Given the description of an element on the screen output the (x, y) to click on. 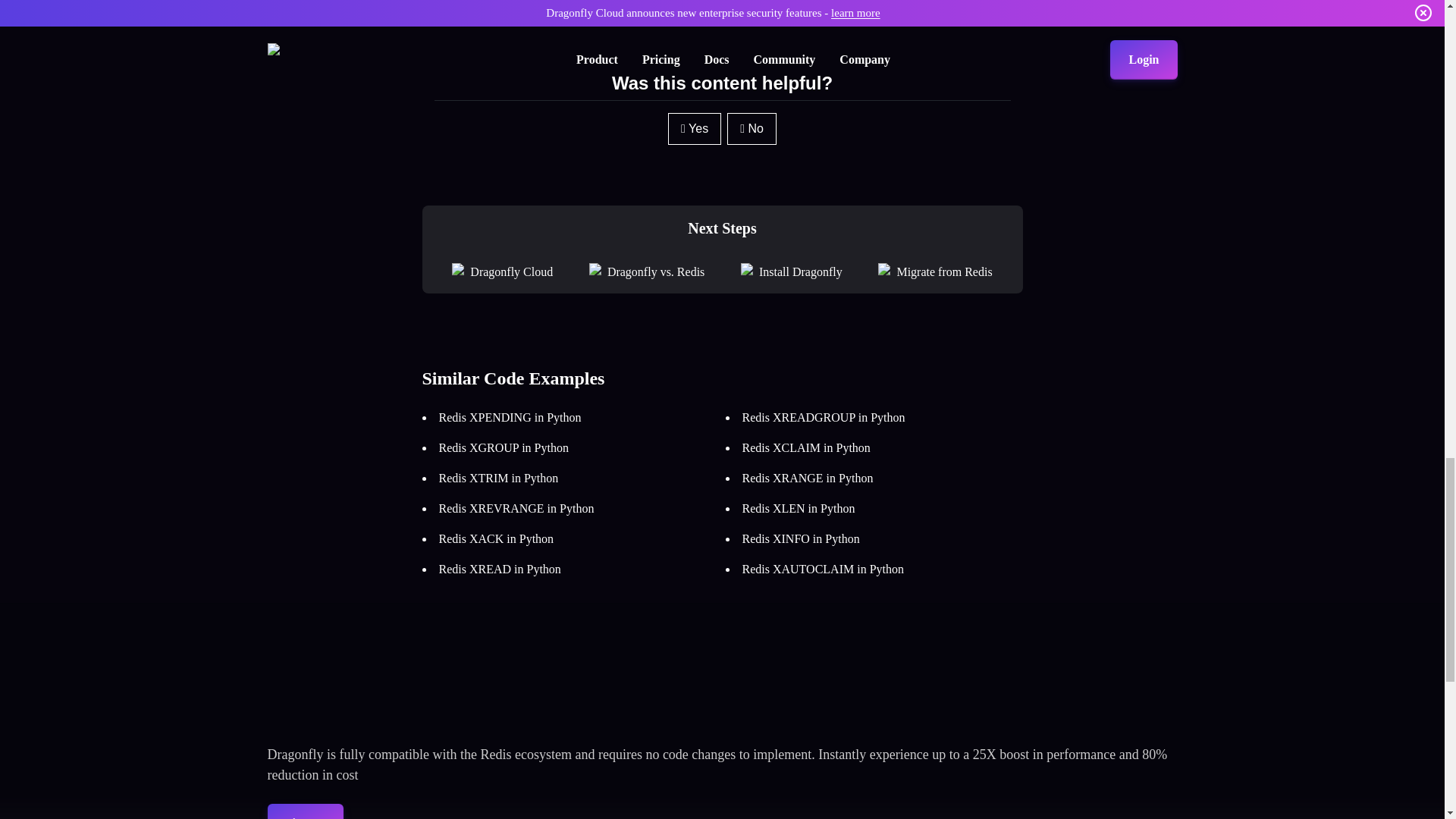
Redis XREVRANGE in Python (516, 508)
Redis XREADGROUP in Python (822, 417)
Redis XTRIM in Python (497, 477)
Migrate from Redis (943, 271)
Install Dragonfly (800, 271)
Redis XCLAIM in Python (805, 447)
Redis XPENDING in Python (509, 417)
Redis XRANGE in Python (806, 477)
Dragonfly vs. Redis (655, 271)
Dragonfly Cloud (511, 271)
